Given the description of an element on the screen output the (x, y) to click on. 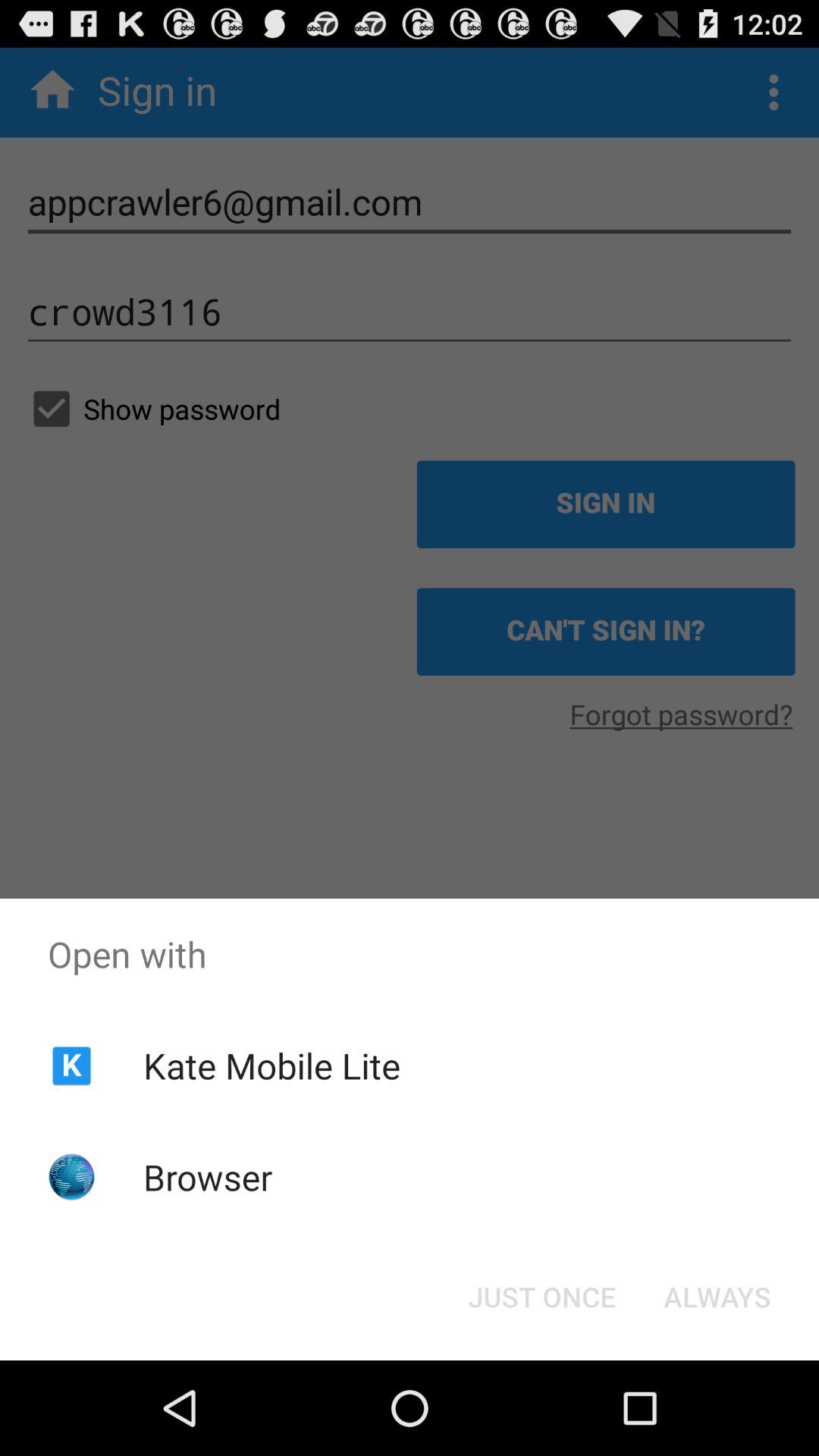
press the always icon (717, 1296)
